Given the description of an element on the screen output the (x, y) to click on. 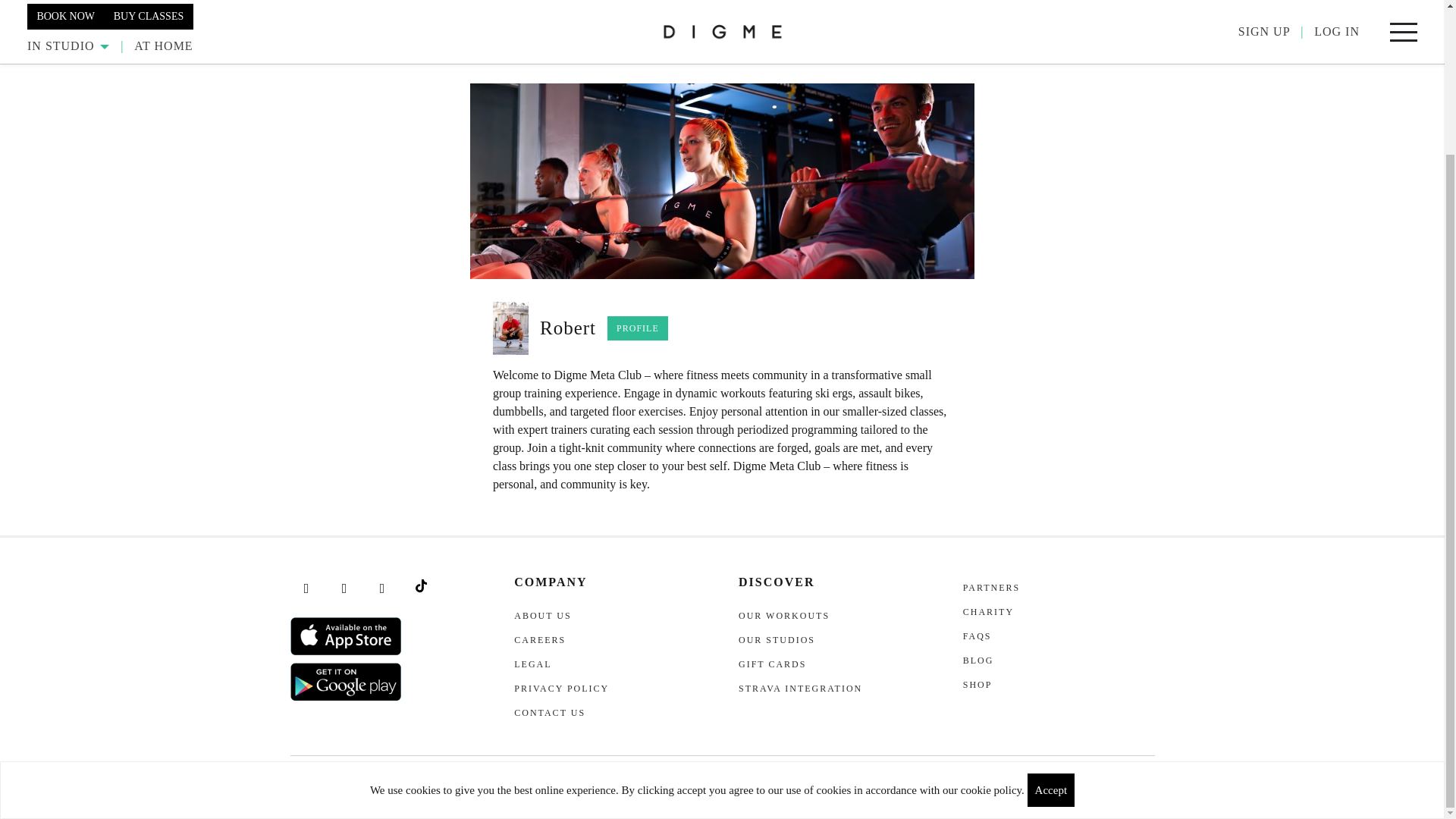
PROFILE (637, 328)
Accept (1050, 610)
Digme Meta Club (722, 181)
OUR WORKOUTS (722, 7)
Download Android App (345, 681)
Download iOS App (345, 636)
